Given the description of an element on the screen output the (x, y) to click on. 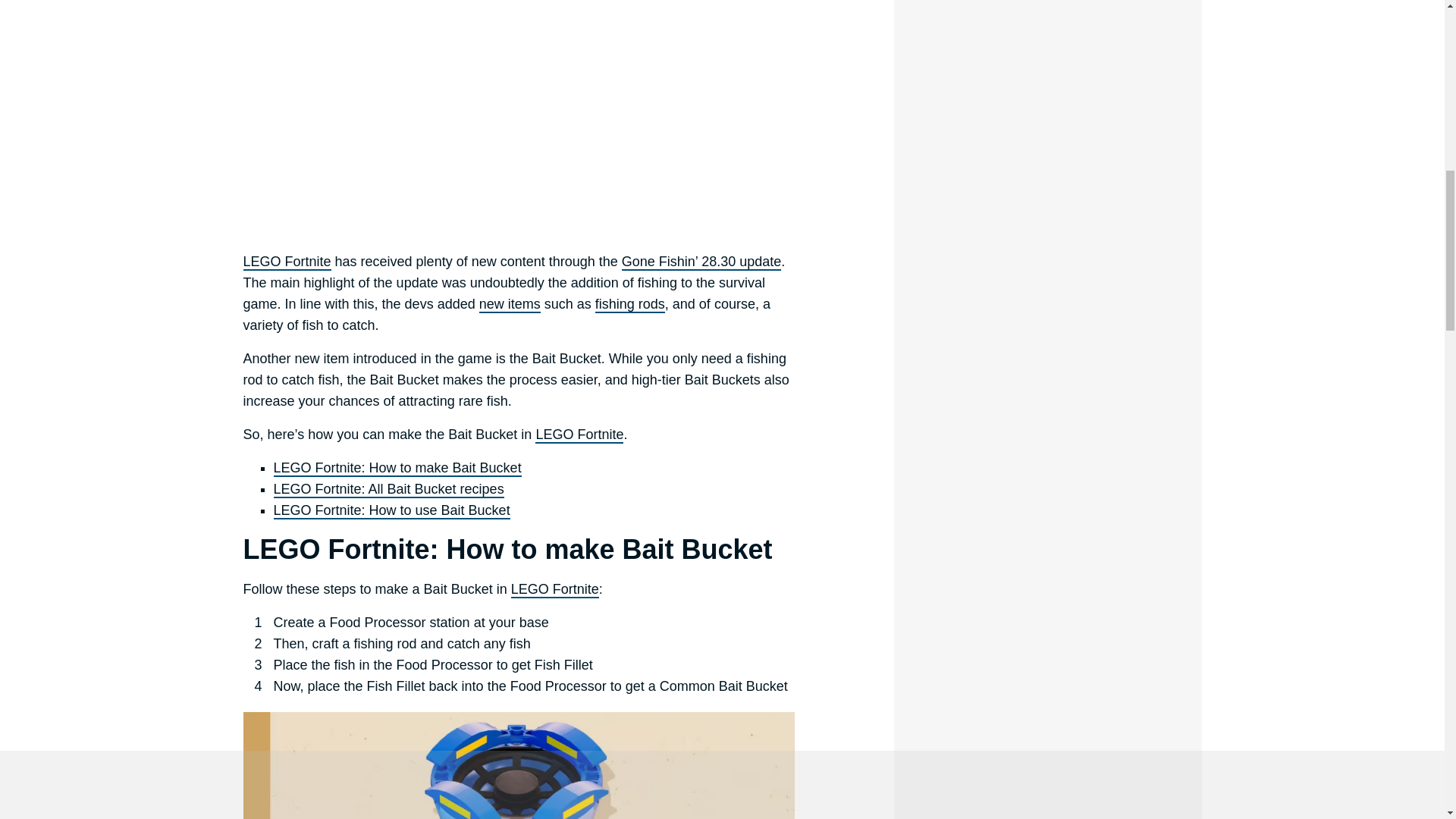
LEGO Fortnite: How to make Bait Bucket (397, 468)
LEGO Fortnite (286, 262)
fishing rods (630, 304)
new items (509, 304)
LEGO Fortnite (579, 434)
LEGO Fortnite (554, 589)
LEGO Fortnite: How to use Bait Bucket (391, 510)
LEGO Fortnite: All Bait Bucket recipes (388, 489)
